Given the description of an element on the screen output the (x, y) to click on. 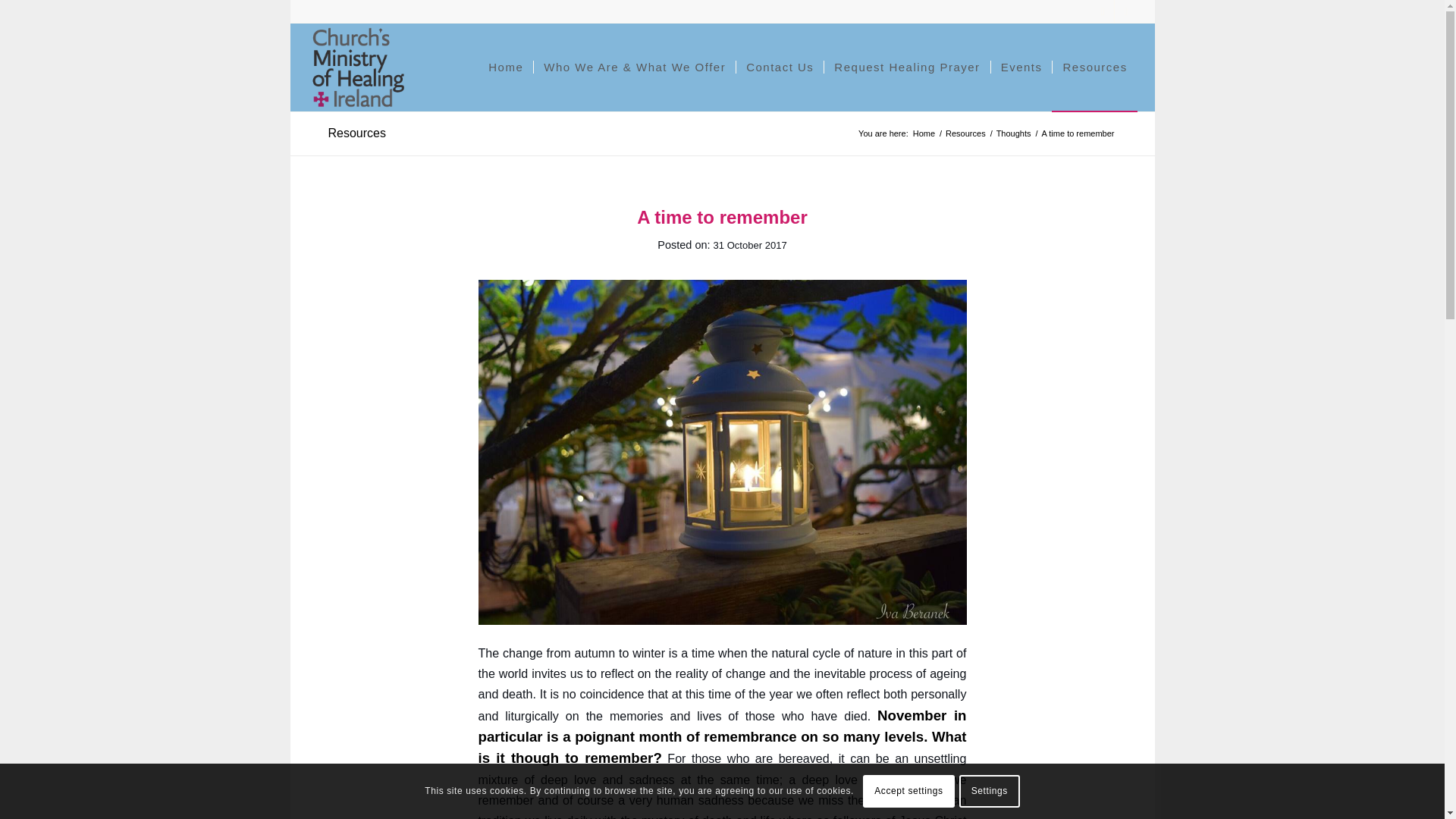
A time to remember (722, 217)
Permanent Link: A time to remember (722, 217)
Contact Us (779, 67)
Permanent Link: Resources (356, 132)
Resources (356, 132)
